Given the description of an element on the screen output the (x, y) to click on. 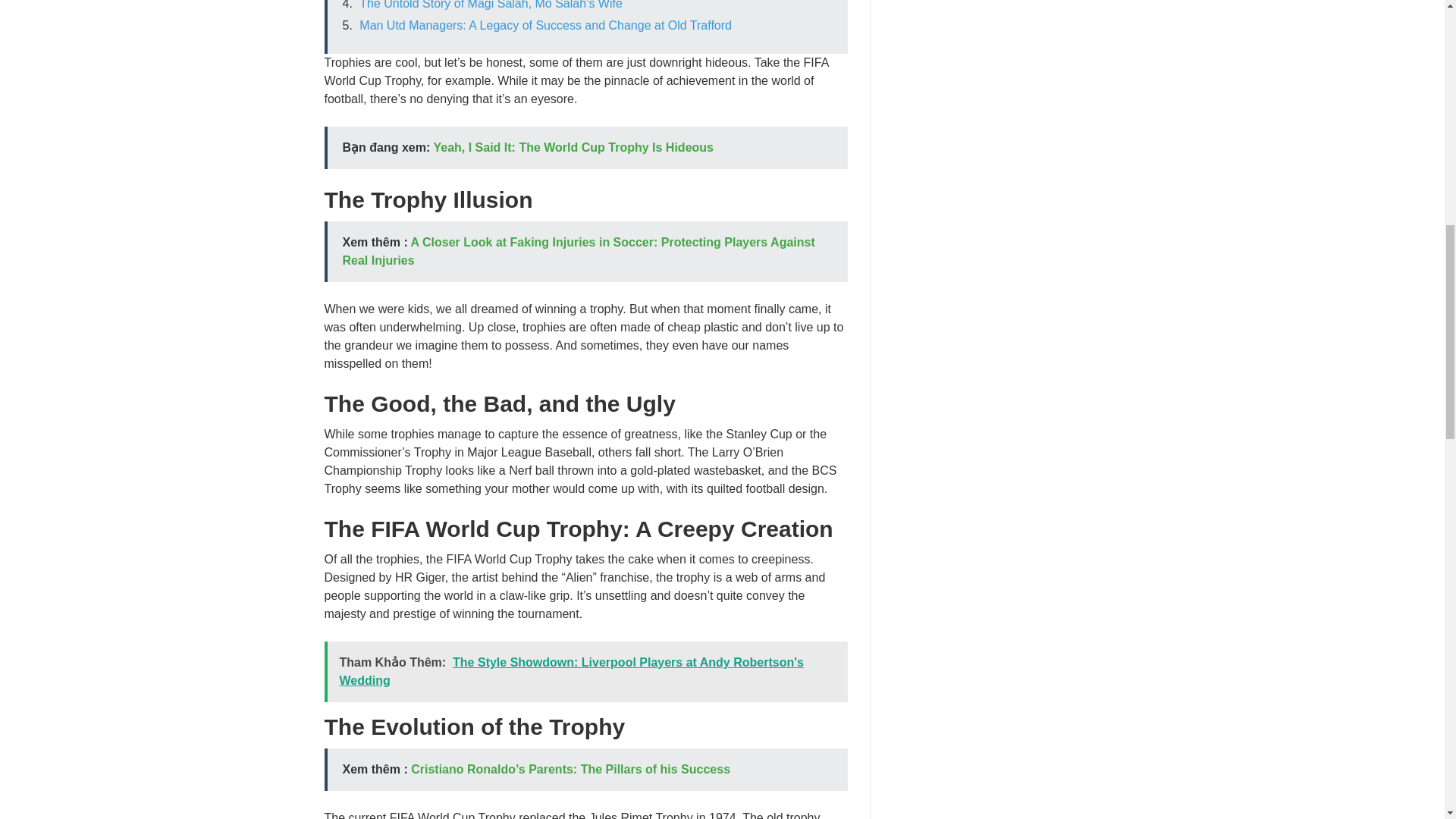
Yeah, I Said It: The World Cup Trophy Is Hideous (572, 146)
